Given the description of an element on the screen output the (x, y) to click on. 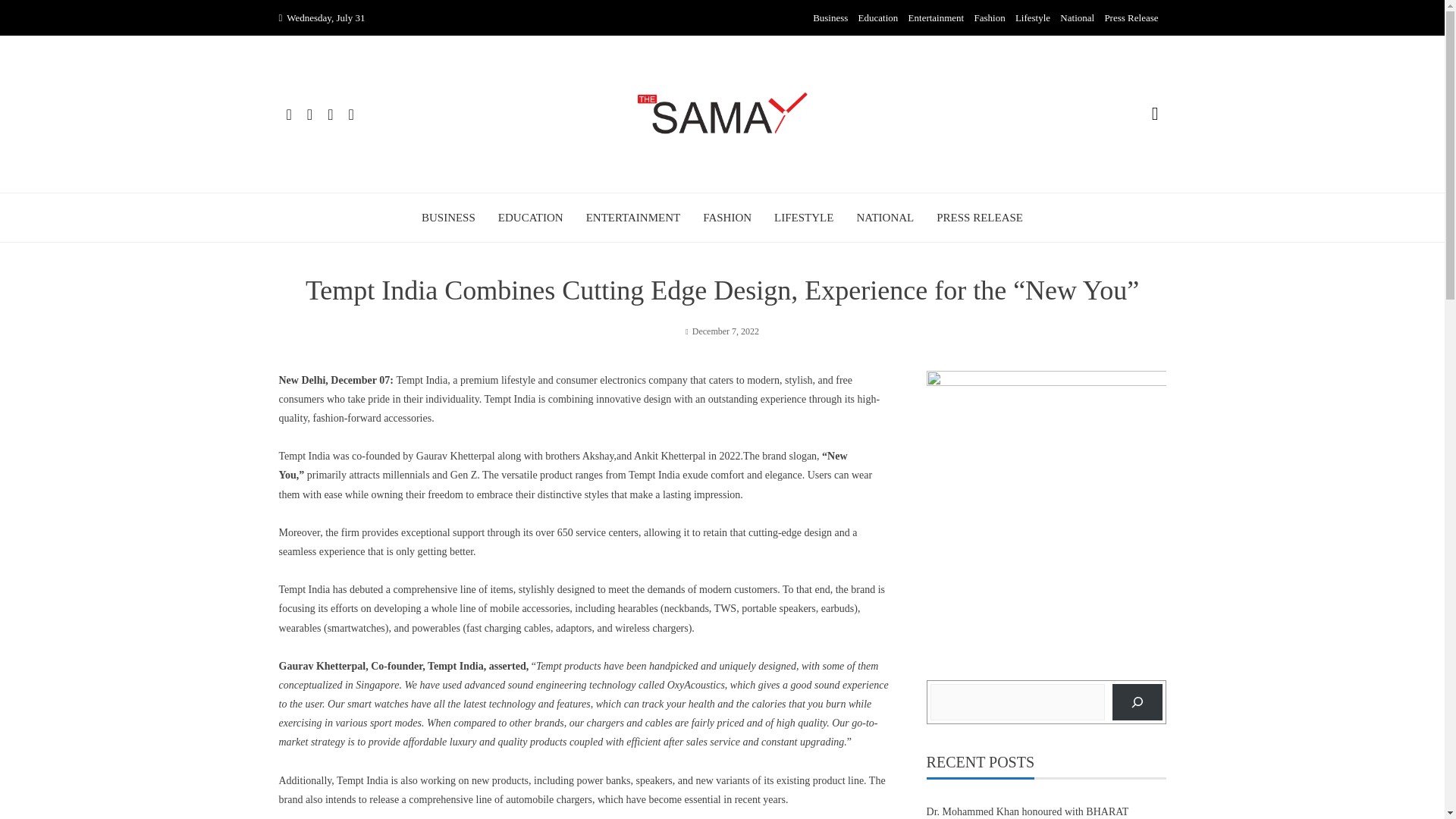
Business (829, 17)
Education (878, 17)
BUSINESS (449, 217)
LIFESTYLE (803, 217)
Press Release (1130, 17)
PRESS RELEASE (979, 217)
Entertainment (935, 17)
EDUCATION (530, 217)
Lifestyle (1031, 17)
FASHION (727, 217)
ENTERTAINMENT (633, 217)
National (1076, 17)
NATIONAL (885, 217)
Fashion (989, 17)
